Given the description of an element on the screen output the (x, y) to click on. 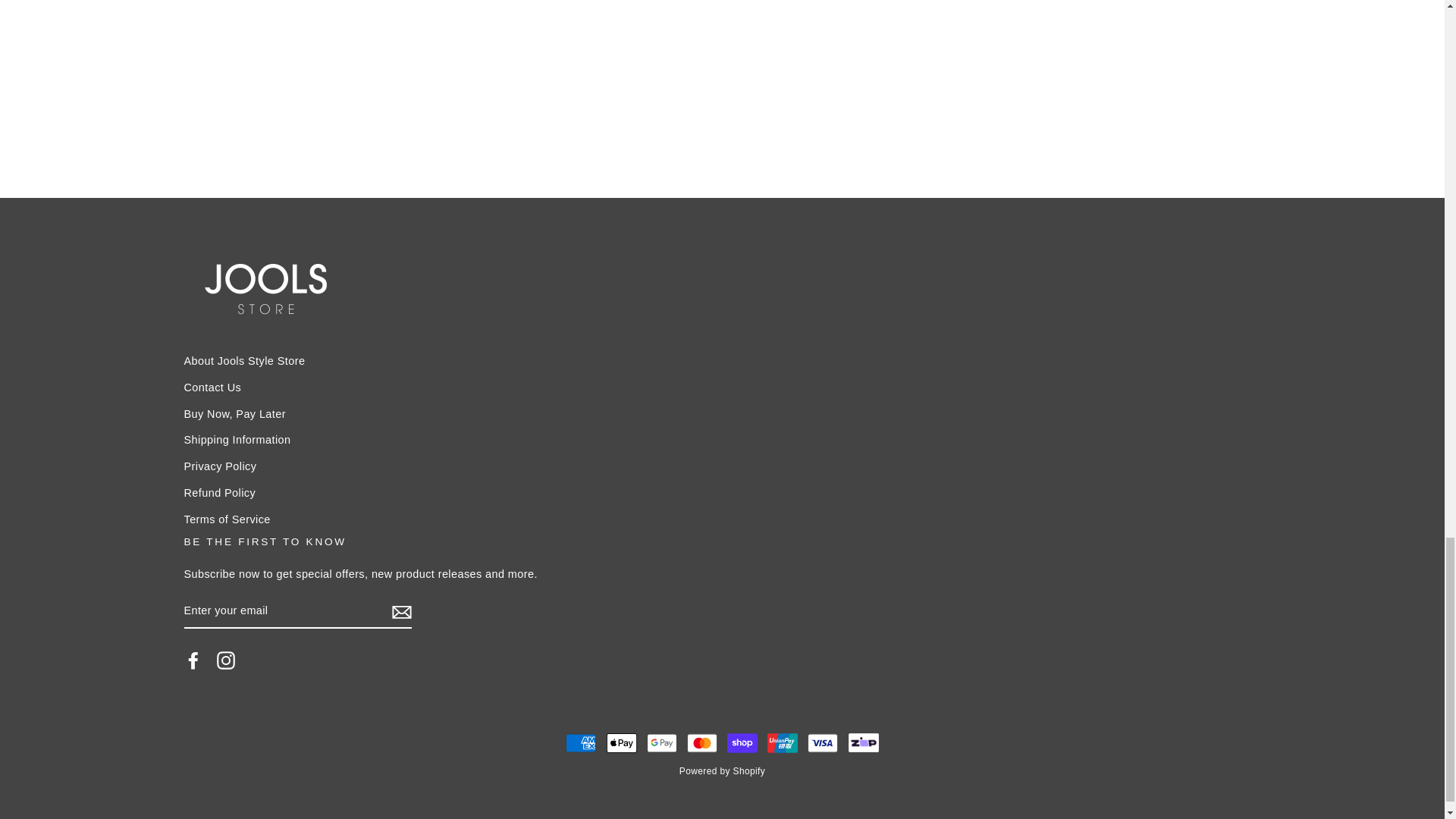
American Express (580, 743)
Jools Style on Instagram (225, 660)
Apple Pay (622, 743)
Visa (823, 743)
Jools Style on Facebook (192, 660)
Mastercard (702, 743)
Union Pay (782, 743)
Google Pay (661, 743)
Shop Pay (741, 743)
